Given the description of an element on the screen output the (x, y) to click on. 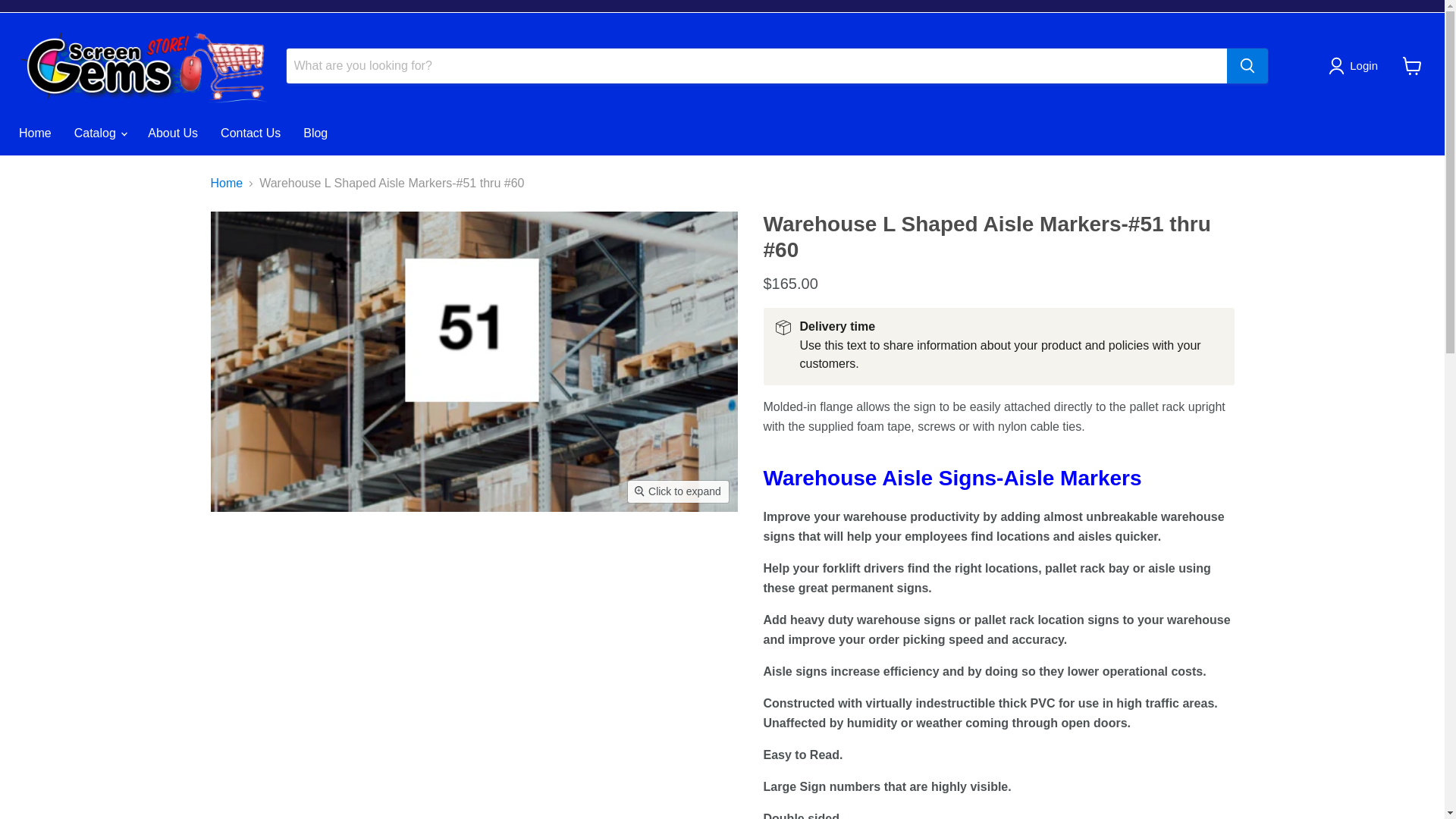
Home (34, 133)
Login (1355, 65)
View cart (1411, 65)
